Given the description of an element on the screen output the (x, y) to click on. 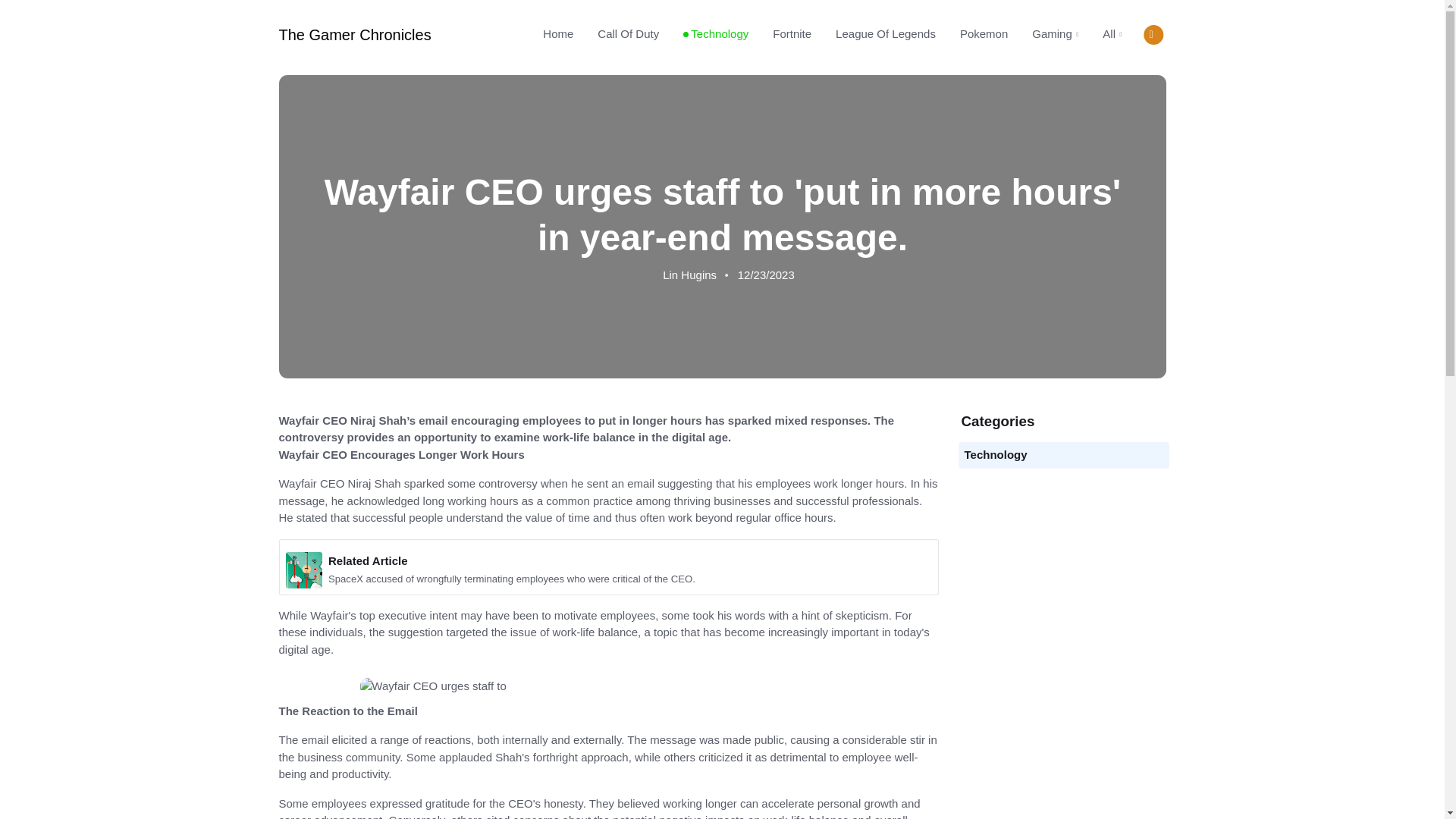
Fortnite (792, 33)
Pokemon (983, 33)
Call Of Duty (628, 33)
League Of Legends (885, 33)
Lin Hugins (689, 274)
The Gamer Chronicles (354, 34)
Home (558, 33)
All (1105, 34)
Technology (715, 33)
Gaming (1055, 34)
Technology (995, 454)
Home (558, 33)
